Given the description of an element on the screen output the (x, y) to click on. 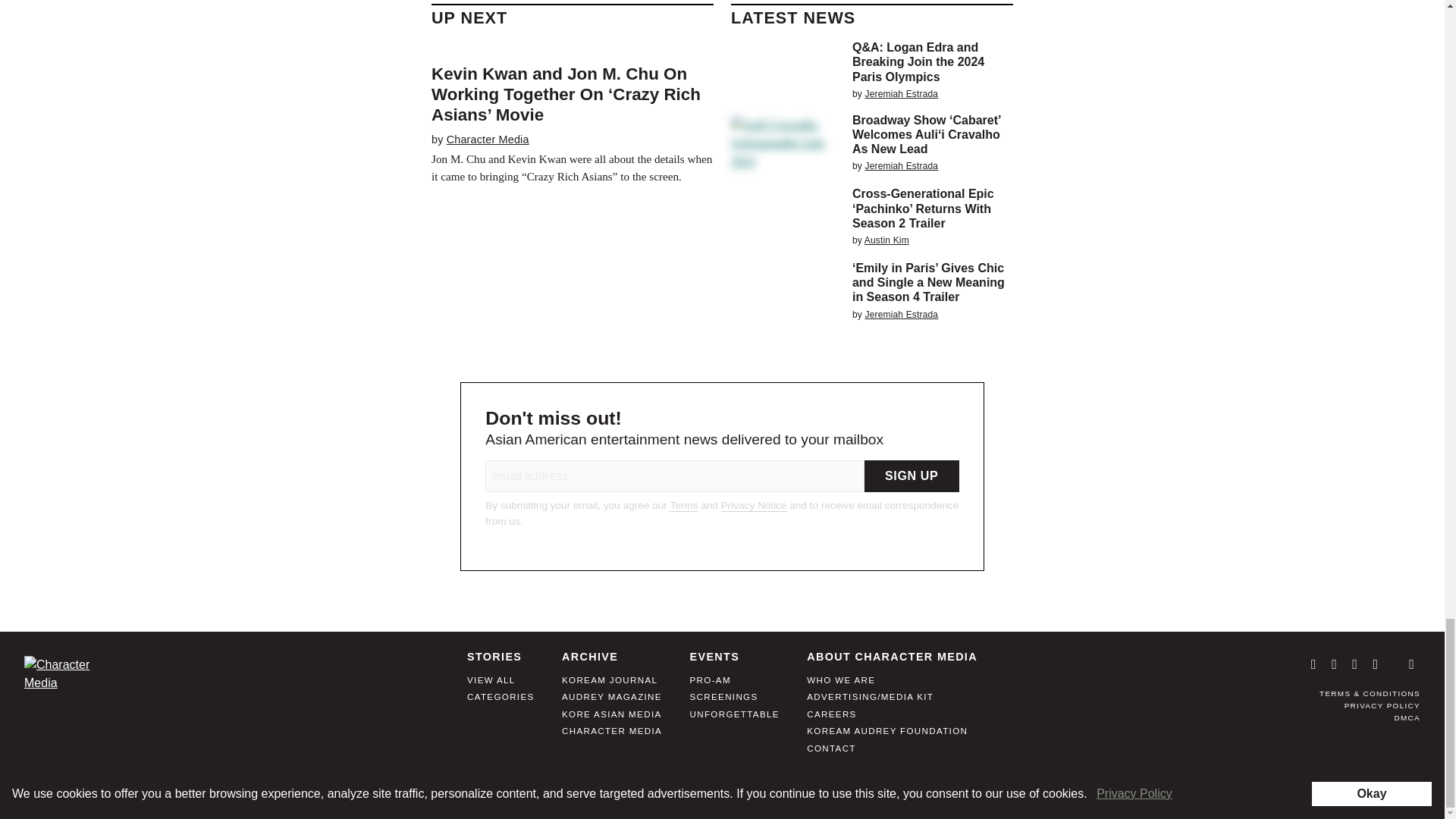
Character Media (487, 139)
Sign Up (911, 476)
KoreAm Audrey Foundation (887, 736)
